Given the description of an element on the screen output the (x, y) to click on. 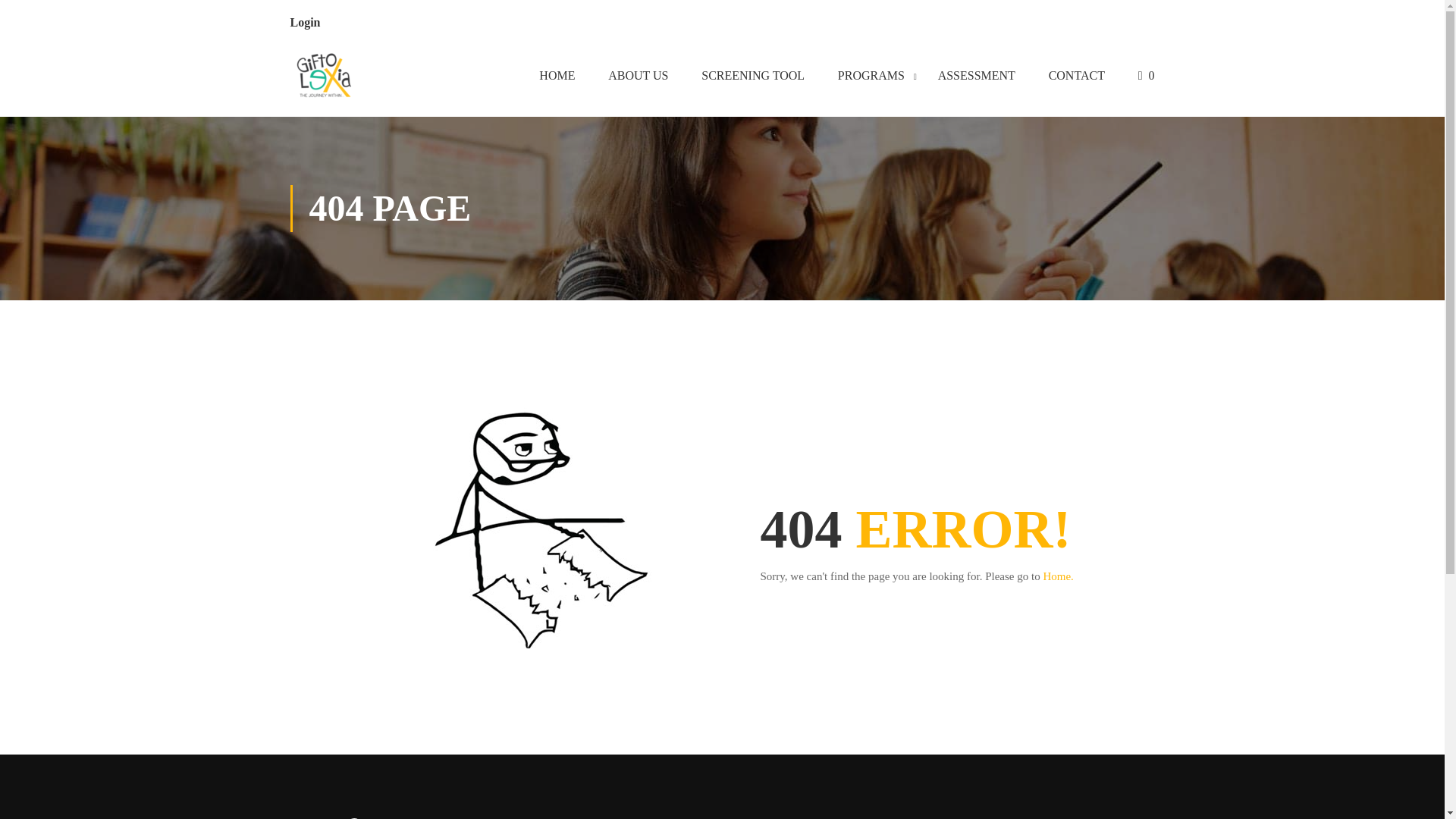
ASSESSMENT (976, 78)
SCREENING TOOL (752, 78)
CONTACT (1076, 78)
PROGRAMS (871, 78)
ABOUT US (637, 78)
View your shopping cart (1146, 78)
HOME (556, 78)
0 (1146, 78)
Home. (1057, 576)
Giftolexia - About Giftolexia (323, 78)
Login (304, 21)
